Given the description of an element on the screen output the (x, y) to click on. 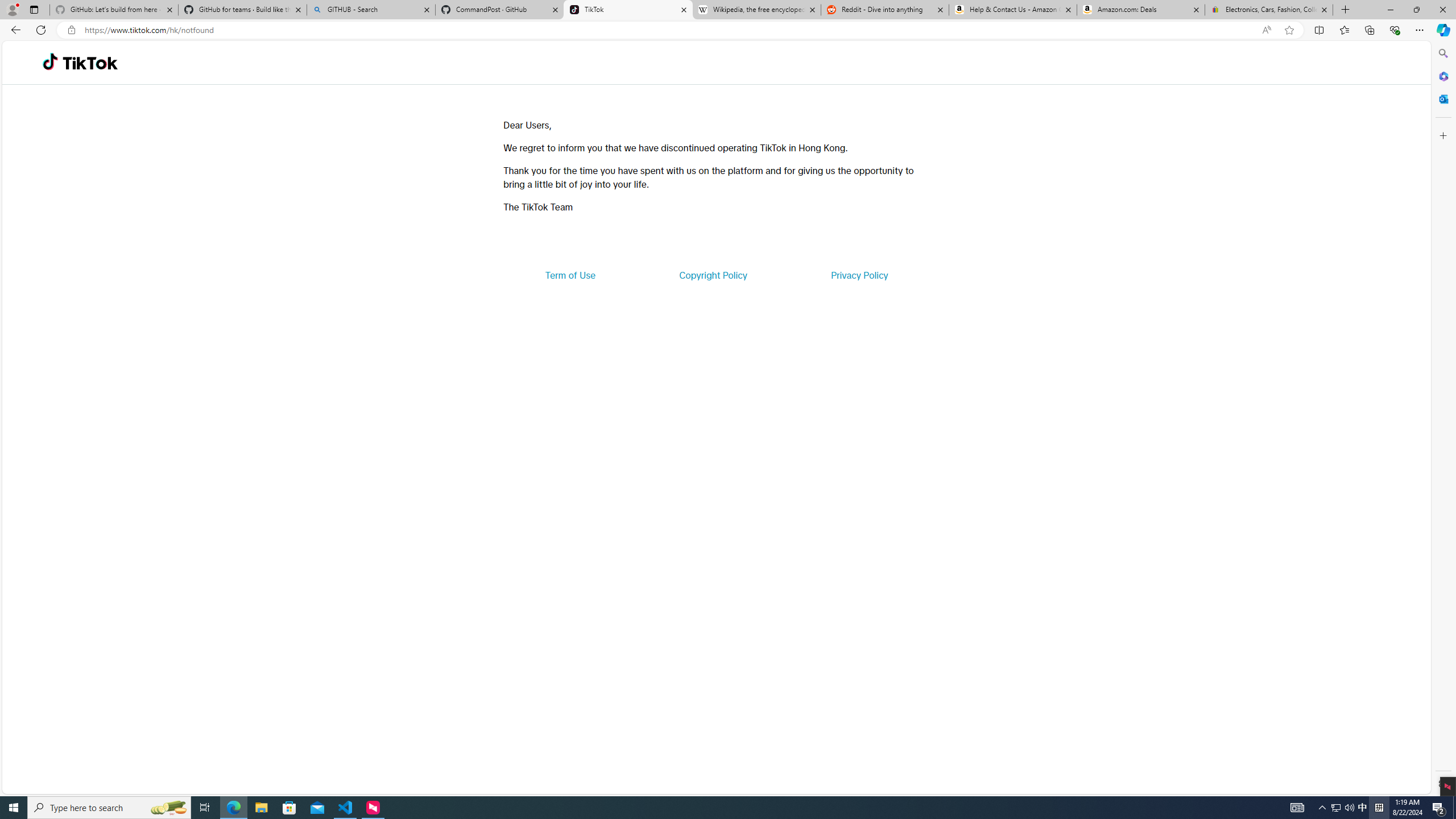
Wikipedia, the free encyclopedia (756, 9)
Term of Use (569, 274)
Amazon.com: Deals (1140, 9)
